Given the description of an element on the screen output the (x, y) to click on. 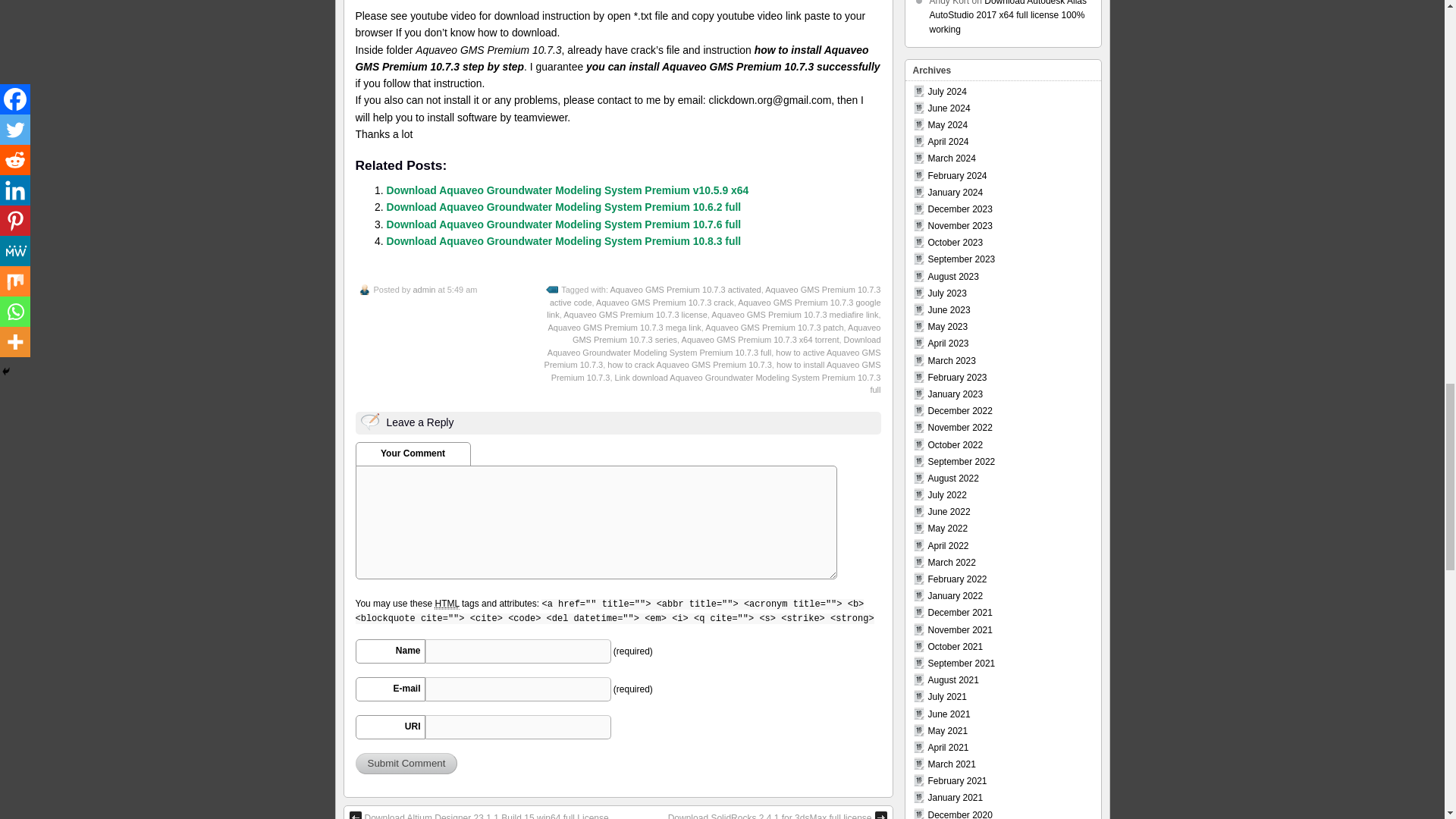
Submit Comment (406, 762)
